Given the description of an element on the screen output the (x, y) to click on. 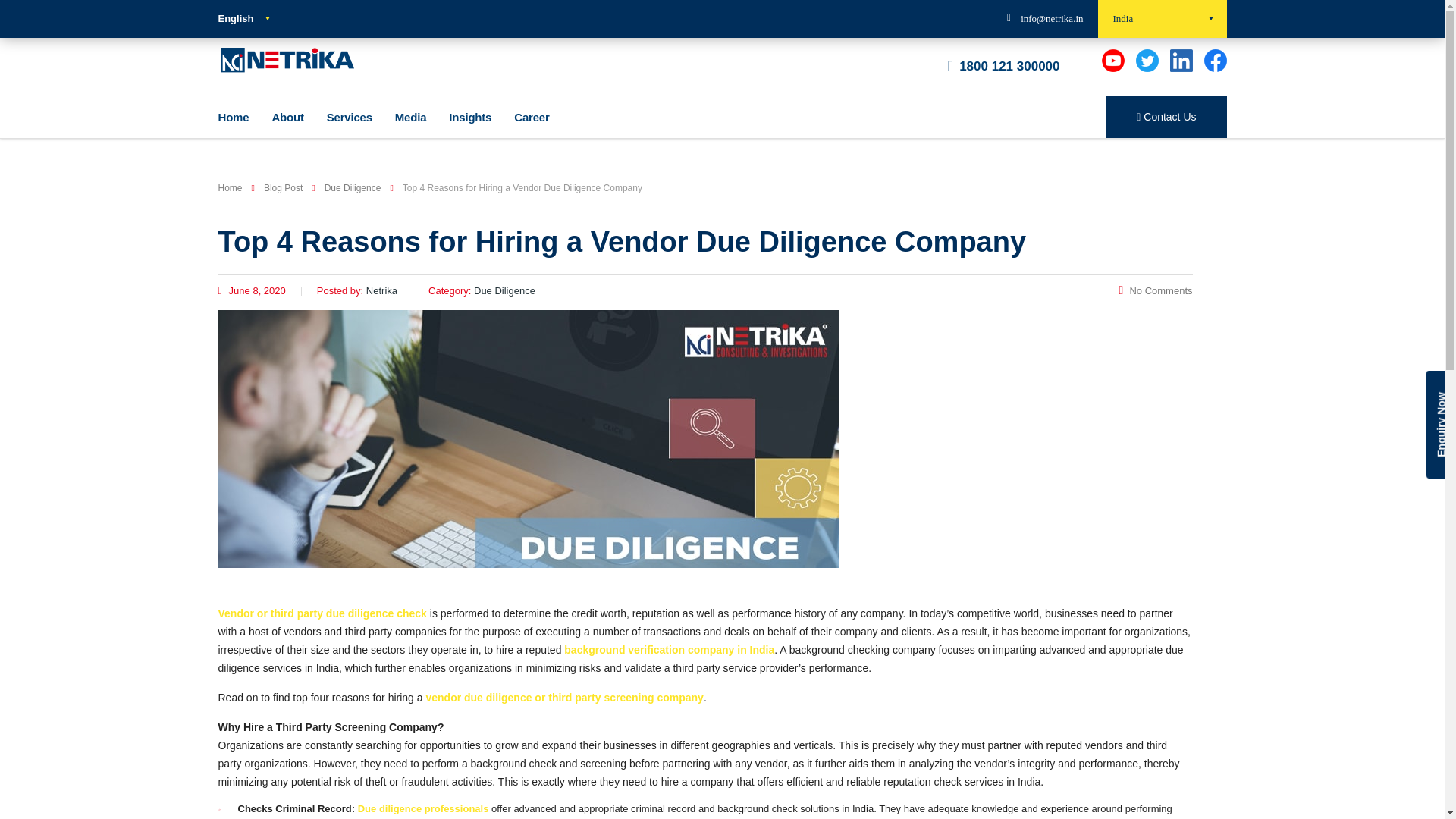
About (287, 117)
Go to the Blog Post category archives. (282, 187)
Go to . (230, 187)
Go to the Due Diligence category archives. (352, 187)
Services (349, 117)
Home (233, 117)
